Given the description of an element on the screen output the (x, y) to click on. 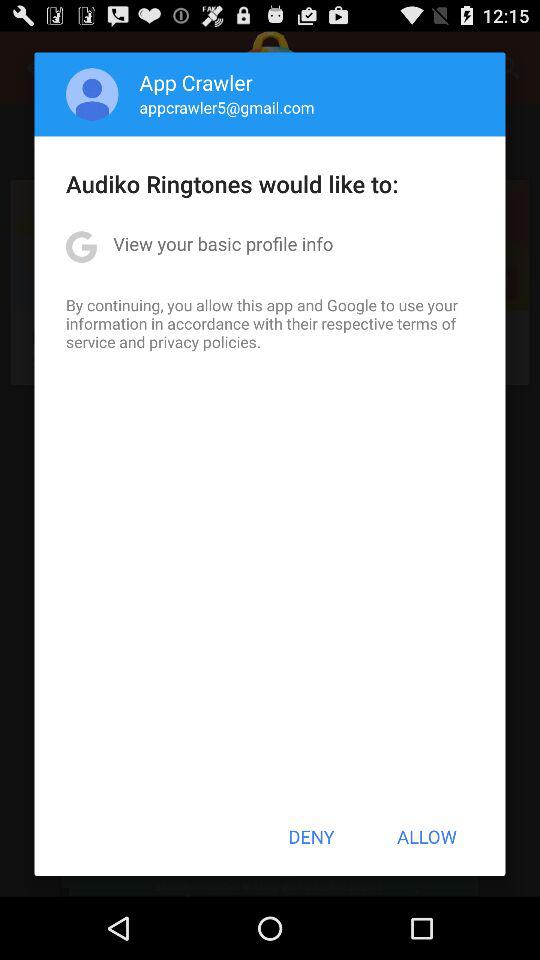
choose the button to the left of allow button (311, 836)
